Given the description of an element on the screen output the (x, y) to click on. 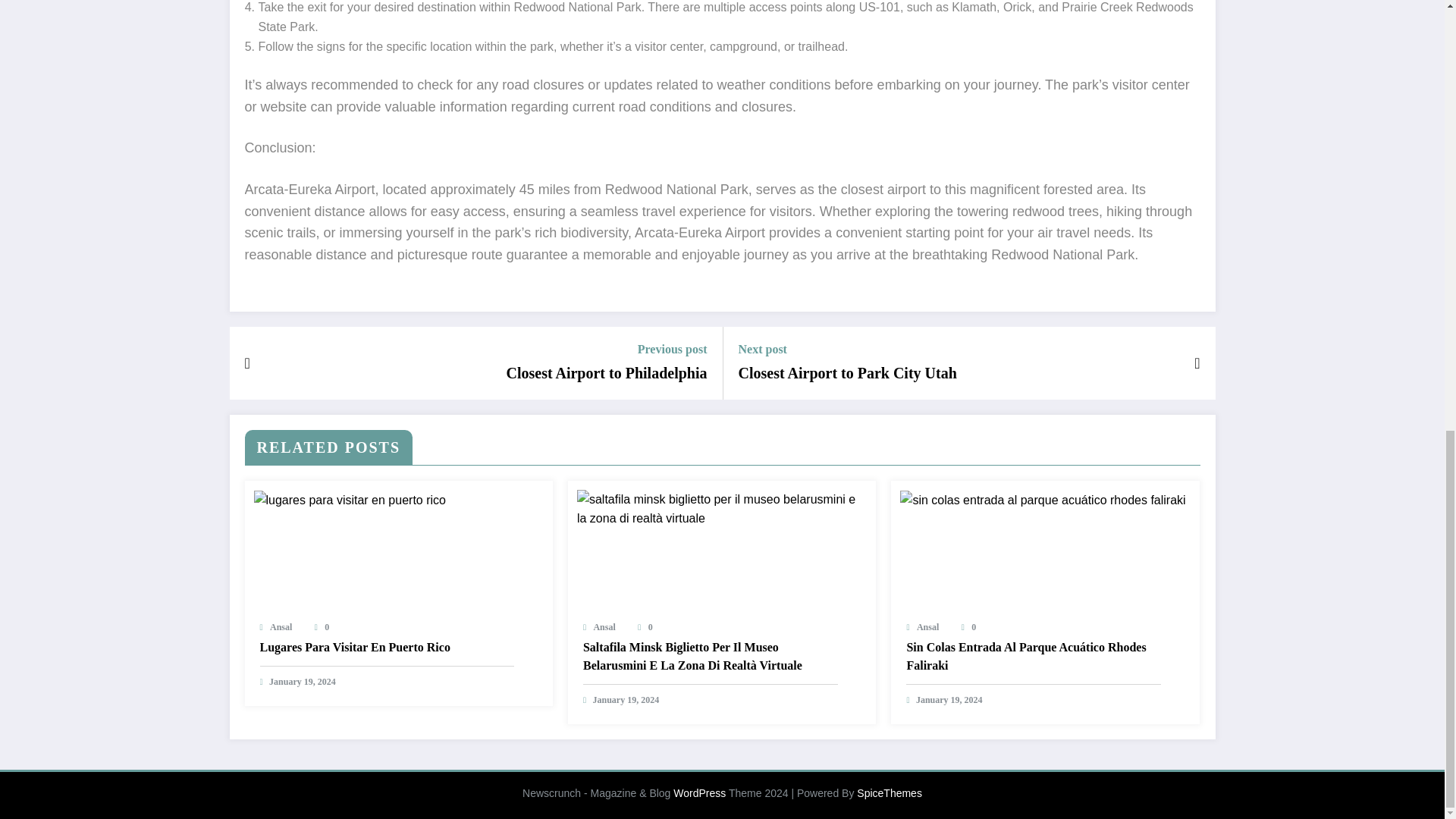
Next post (847, 349)
January 19, 2024 (302, 681)
Closest Airport to Philadelphia (605, 373)
Closest Airport to Park City Utah (847, 373)
Previous post (605, 349)
Lugares Para Visitar En Puerto Rico (386, 647)
Ansal (280, 626)
